Given the description of an element on the screen output the (x, y) to click on. 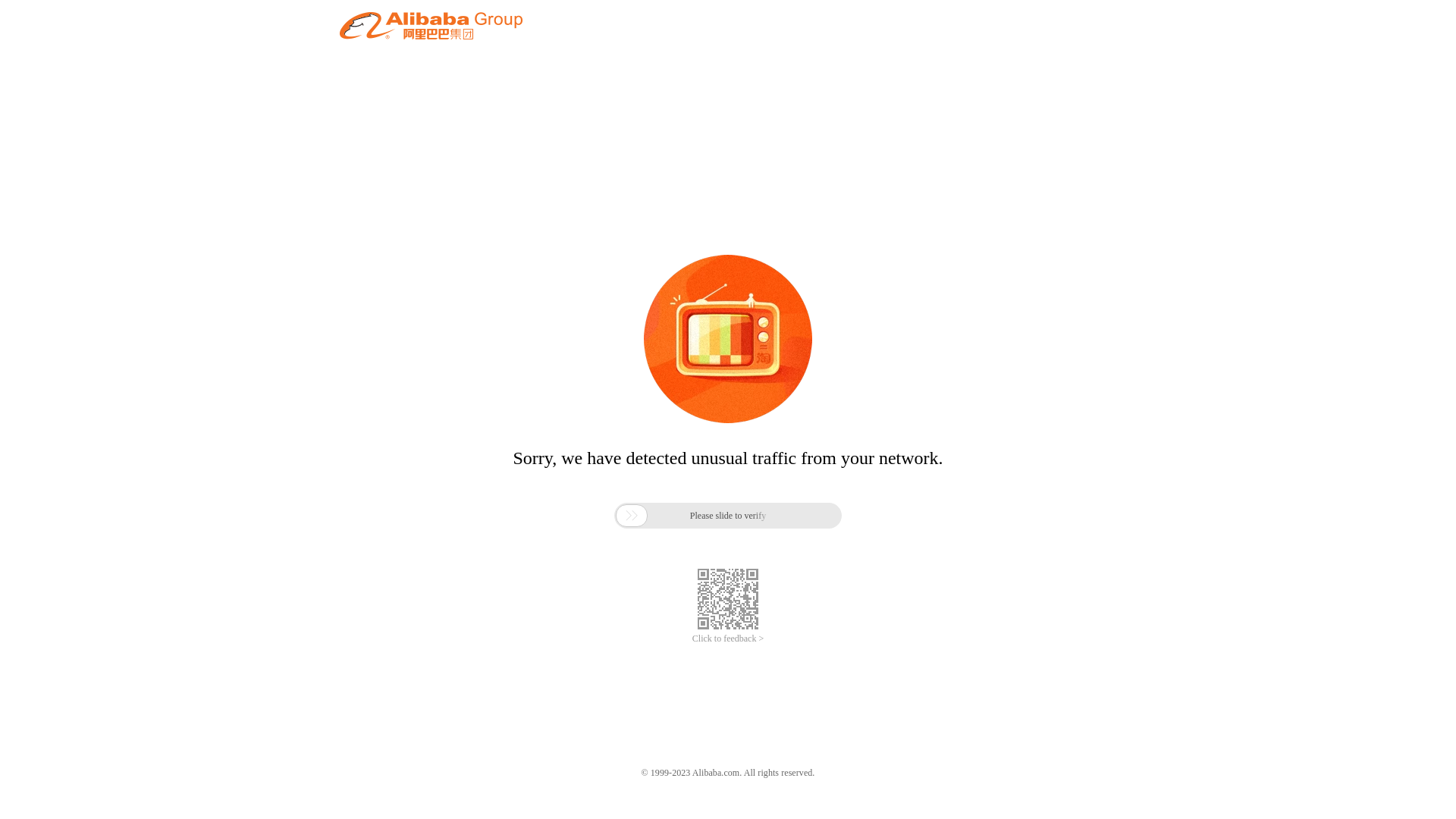
Click to feedback > Element type: text (727, 638)
